Given the description of an element on the screen output the (x, y) to click on. 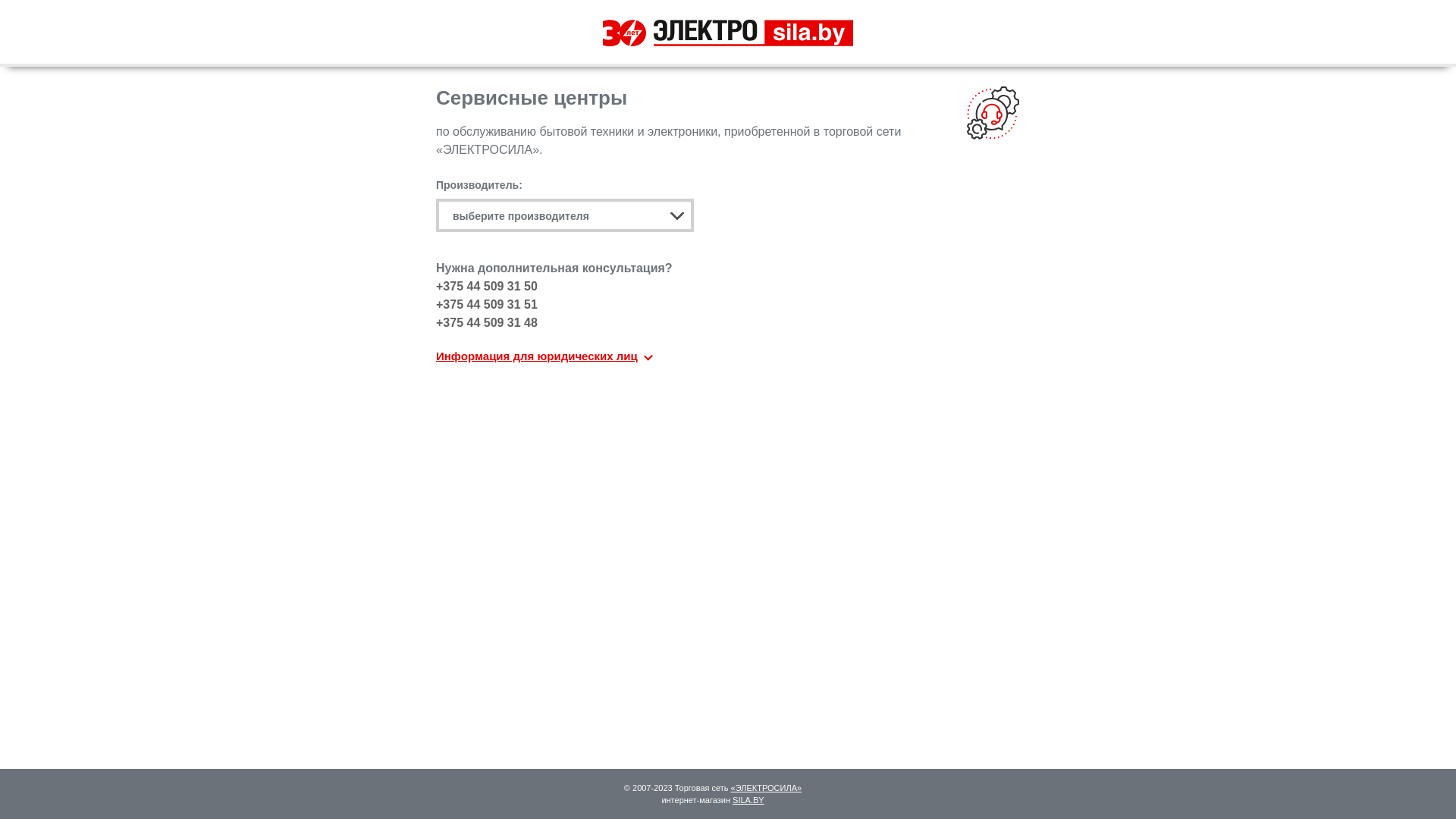
SILA.BY Element type: text (748, 799)
+375 44 509 31 50 Element type: text (486, 285)
+375 44 509 31 51 Element type: text (486, 304)
+375 44 509 31 48 Element type: text (486, 322)
